Given the description of an element on the screen output the (x, y) to click on. 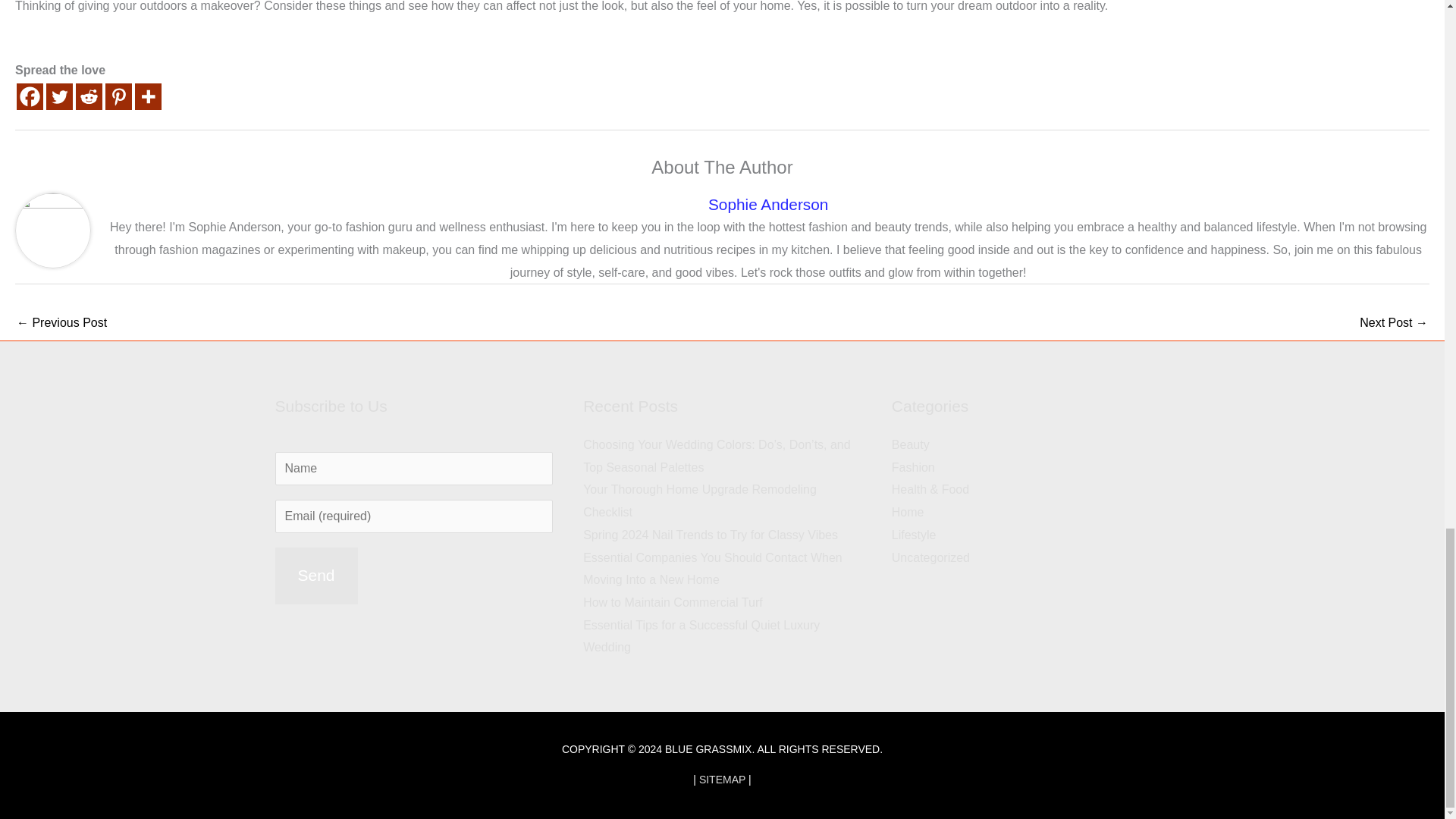
Lifestyle (913, 534)
Beauty (910, 444)
Home (907, 512)
Reddit (88, 96)
Twitter (59, 96)
Fashion (912, 467)
Spring 2024 Nail Trends to Try for Classy Vibes (710, 534)
Sophie Anderson (767, 204)
How to Maintain Commercial Turf (672, 602)
More (148, 96)
Send (315, 575)
Pinterest (118, 96)
Facebook (29, 96)
Essential Tips for a Successful Quiet Luxury Wedding (701, 636)
